Given the description of an element on the screen output the (x, y) to click on. 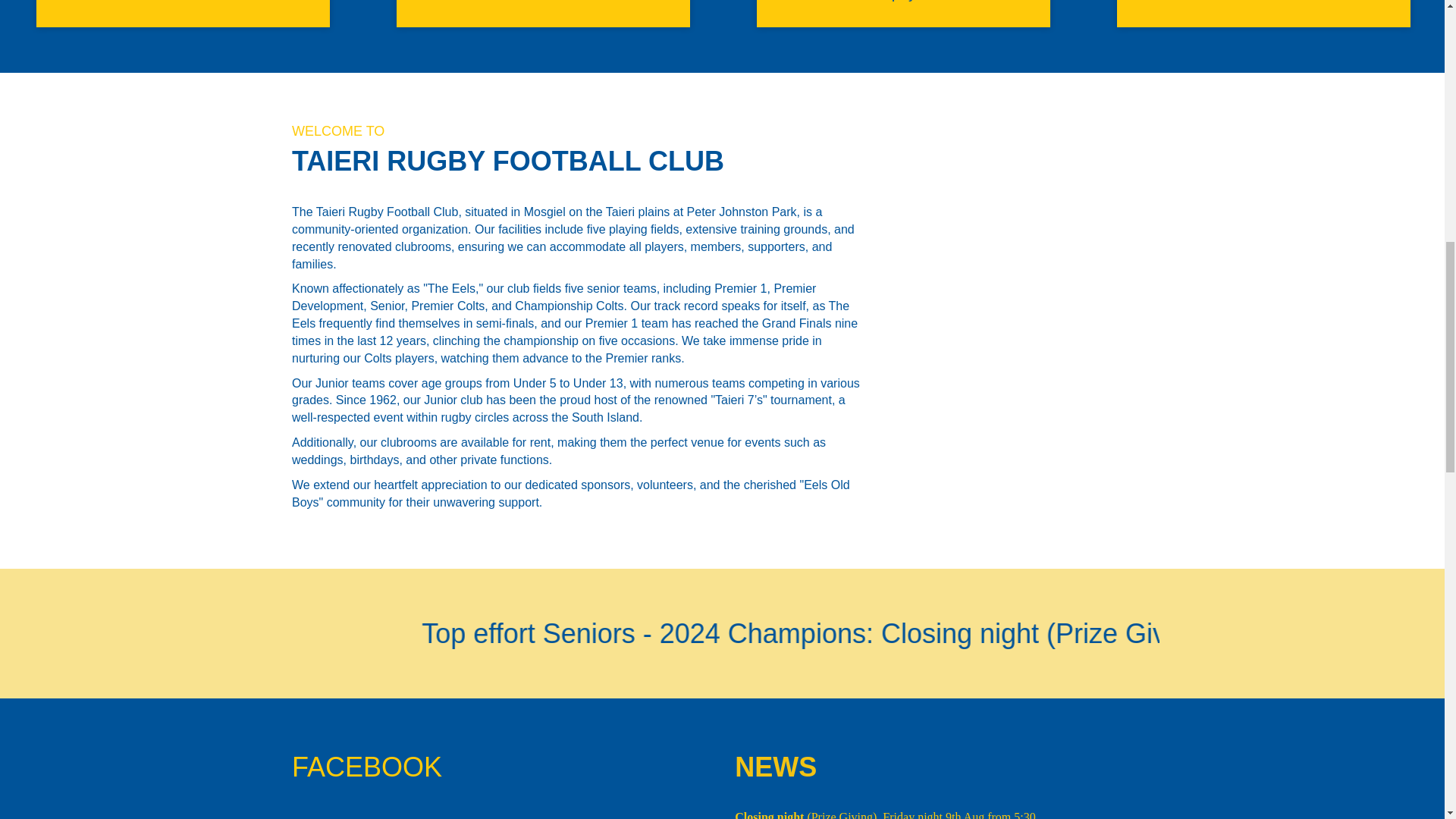
REGISTRATIONS (1263, 13)
HALL HIRE (543, 13)
2023 Trophy Winners (903, 13)
